Given the description of an element on the screen output the (x, y) to click on. 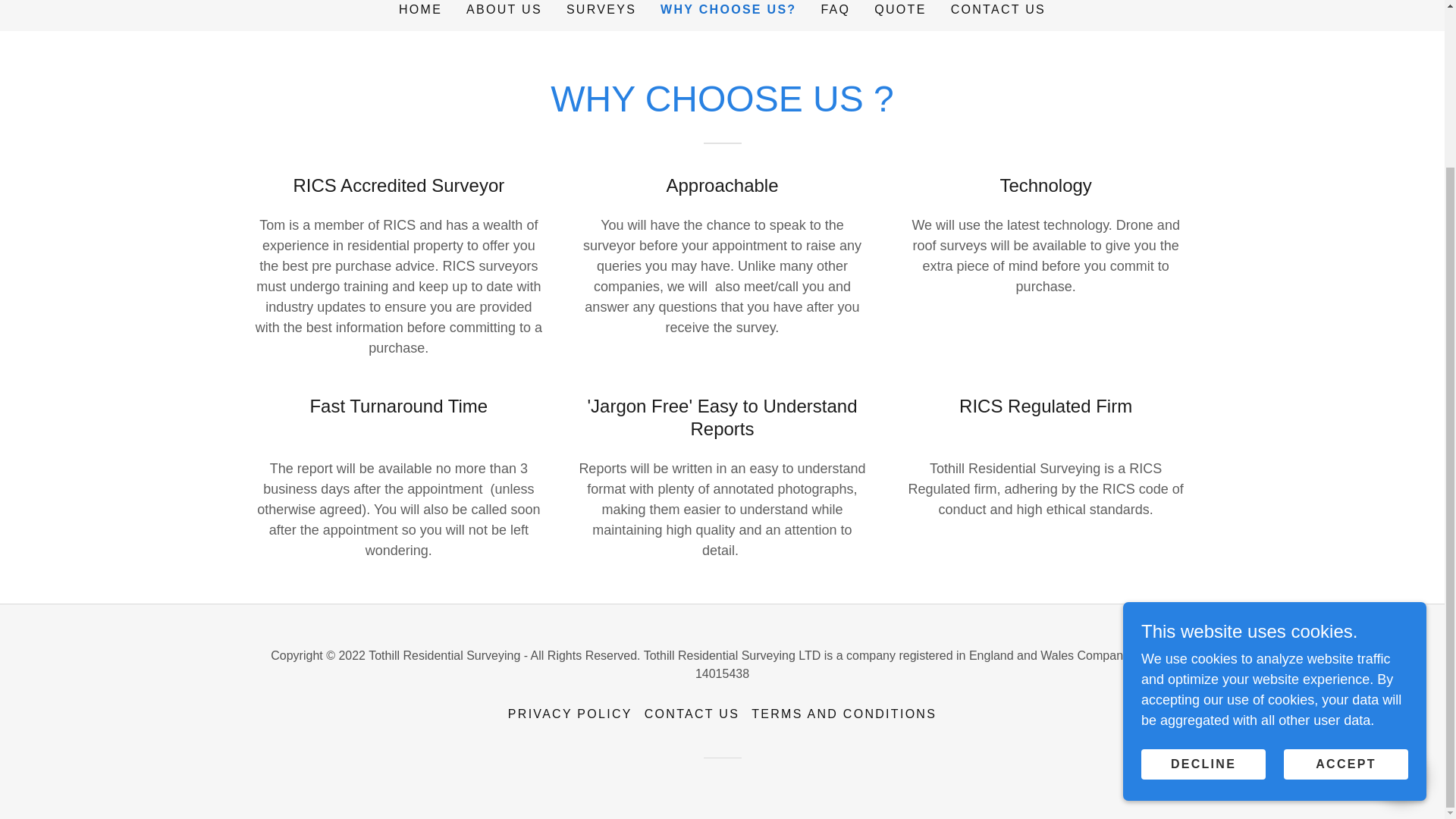
ACCEPT (1345, 564)
FAQ (834, 11)
CONTACT US (692, 714)
CONTACT US (997, 11)
HOME (420, 11)
SURVEYS (601, 11)
TERMS AND CONDITIONS (843, 714)
WHY CHOOSE US? (728, 9)
PRIVACY POLICY (570, 714)
ABOUT US (504, 11)
DECLINE (1203, 564)
QUOTE (899, 11)
